Given the description of an element on the screen output the (x, y) to click on. 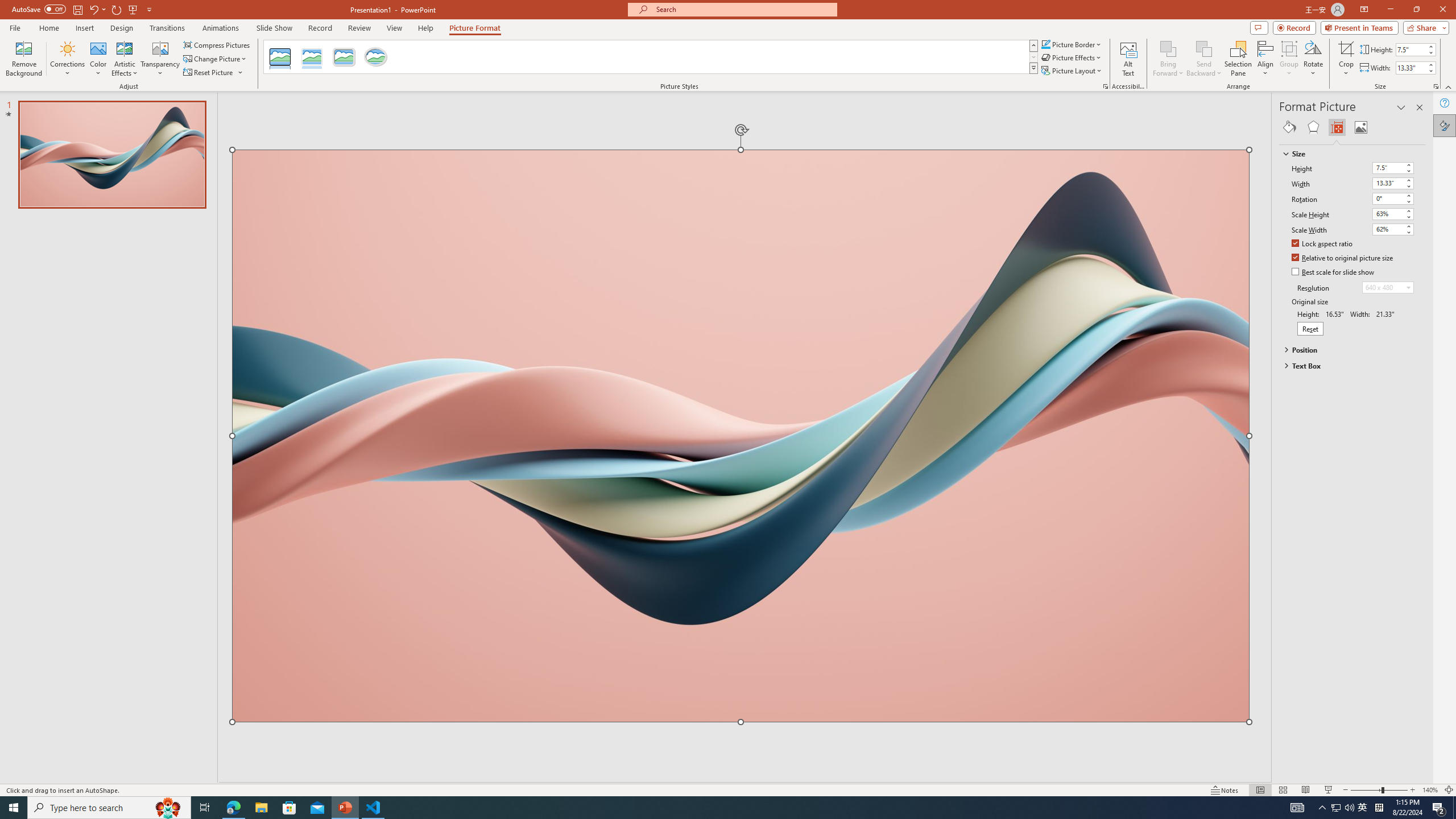
Crop (1345, 58)
Wavy 3D art (740, 435)
Scale Height (1393, 214)
Crop (1345, 48)
Metal Rounded Rectangle (343, 56)
Send Backward (1204, 48)
Picture Effects (1072, 56)
Remove Background (23, 58)
